Given the description of an element on the screen output the (x, y) to click on. 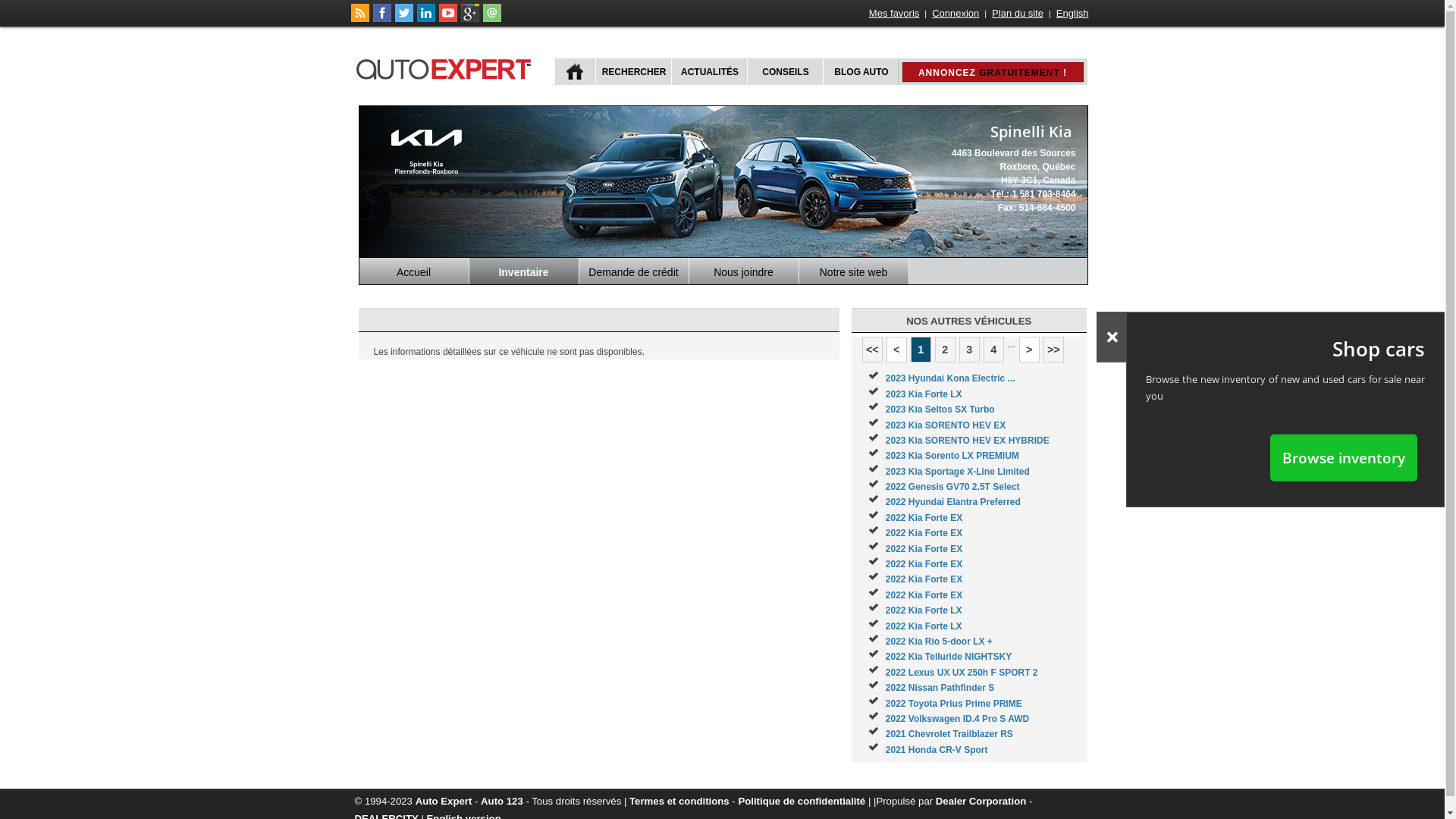
2023 Kia SORENTO HEV EX Element type: text (945, 425)
<< Element type: text (872, 349)
2022 Kia Forte LX Element type: text (923, 626)
RECHERCHER Element type: text (631, 71)
2023 Kia Sorento LX PREMIUM Element type: text (952, 455)
2021 Honda CR-V Sport Element type: text (936, 749)
ANNONCEZ GRATUITEMENT ! Element type: text (992, 71)
2023 Kia Seltos SX Turbo Element type: text (939, 409)
Suivez autoExpert.ca sur Twitter Element type: hover (403, 18)
Notre site web Element type: text (854, 270)
2022 Toyota Prius Prime PRIME Element type: text (953, 703)
Inventaire Element type: text (523, 270)
2022 Kia Forte EX Element type: text (923, 517)
2022 Kia Telluride NIGHTSKY Element type: text (948, 656)
2022 Volkswagen ID.4 Pro S AWD Element type: text (957, 718)
CONSEILS Element type: text (783, 71)
Auto Expert Element type: text (443, 800)
BLOG AUTO Element type: text (859, 71)
Plan du site Element type: text (1017, 13)
Suivez autoExpert.ca sur Google Plus Element type: hover (470, 18)
Suivez Publications Le Guide Inc. sur LinkedIn Element type: hover (426, 18)
Nous joindre Element type: text (743, 270)
2 Element type: text (945, 349)
Suivez autoExpert.ca sur Facebook Element type: hover (382, 18)
2022 Kia Forte EX Element type: text (923, 594)
4 Element type: text (993, 349)
2022 Kia Forte EX Element type: text (923, 579)
2023 Kia Sportage X-Line Limited Element type: text (957, 471)
2021 Chevrolet Trailblazer RS Element type: text (949, 733)
Accueil Element type: text (414, 270)
2023 Kia Forte LX Element type: text (923, 394)
3 Element type: text (969, 349)
Connexion Element type: text (955, 13)
English Element type: text (1072, 13)
2022 Kia Forte LX Element type: text (923, 610)
2022 Nissan Pathfinder S Element type: text (939, 687)
Dealer Corporation Element type: text (980, 800)
autoExpert.ca Element type: text (446, 66)
Suivez autoExpert.ca sur Youtube Element type: hover (447, 18)
2022 Hyundai Elantra Preferred Element type: text (952, 501)
2022 Kia Forte EX Element type: text (923, 563)
Browse inventory Element type: text (1343, 457)
1 Element type: text (920, 349)
Auto 123 Element type: text (501, 800)
Mes favoris Element type: text (893, 13)
2022 Lexus UX UX 250h F SPORT 2 Element type: text (961, 672)
>> Element type: text (1053, 349)
2022 Kia Forte EX Element type: text (923, 532)
2022 Kia Forte EX Element type: text (923, 548)
< Element type: text (896, 349)
Termes et conditions Element type: text (679, 800)
2022 Kia Rio 5-door LX + Element type: text (938, 641)
> Element type: text (1029, 349)
ACCUEIL Element type: text (575, 71)
2023 Hyundai Kona Electric ... Element type: text (950, 378)
Joindre autoExpert.ca Element type: hover (491, 18)
2022 Genesis GV70 2.5T Select Element type: text (952, 486)
2023 Kia SORENTO HEV EX HYBRIDE Element type: text (967, 440)
